Given the description of an element on the screen output the (x, y) to click on. 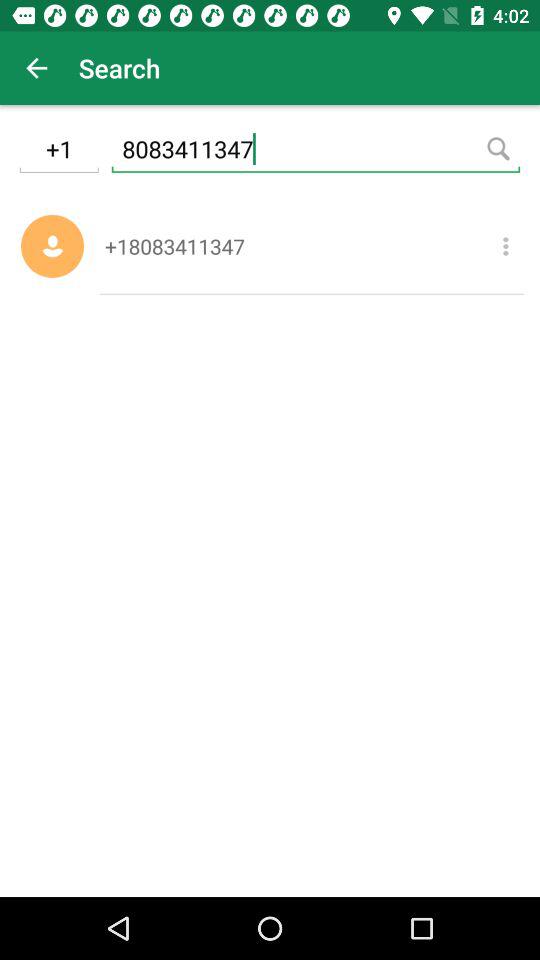
choose item below the 8083411347 (505, 246)
